Given the description of an element on the screen output the (x, y) to click on. 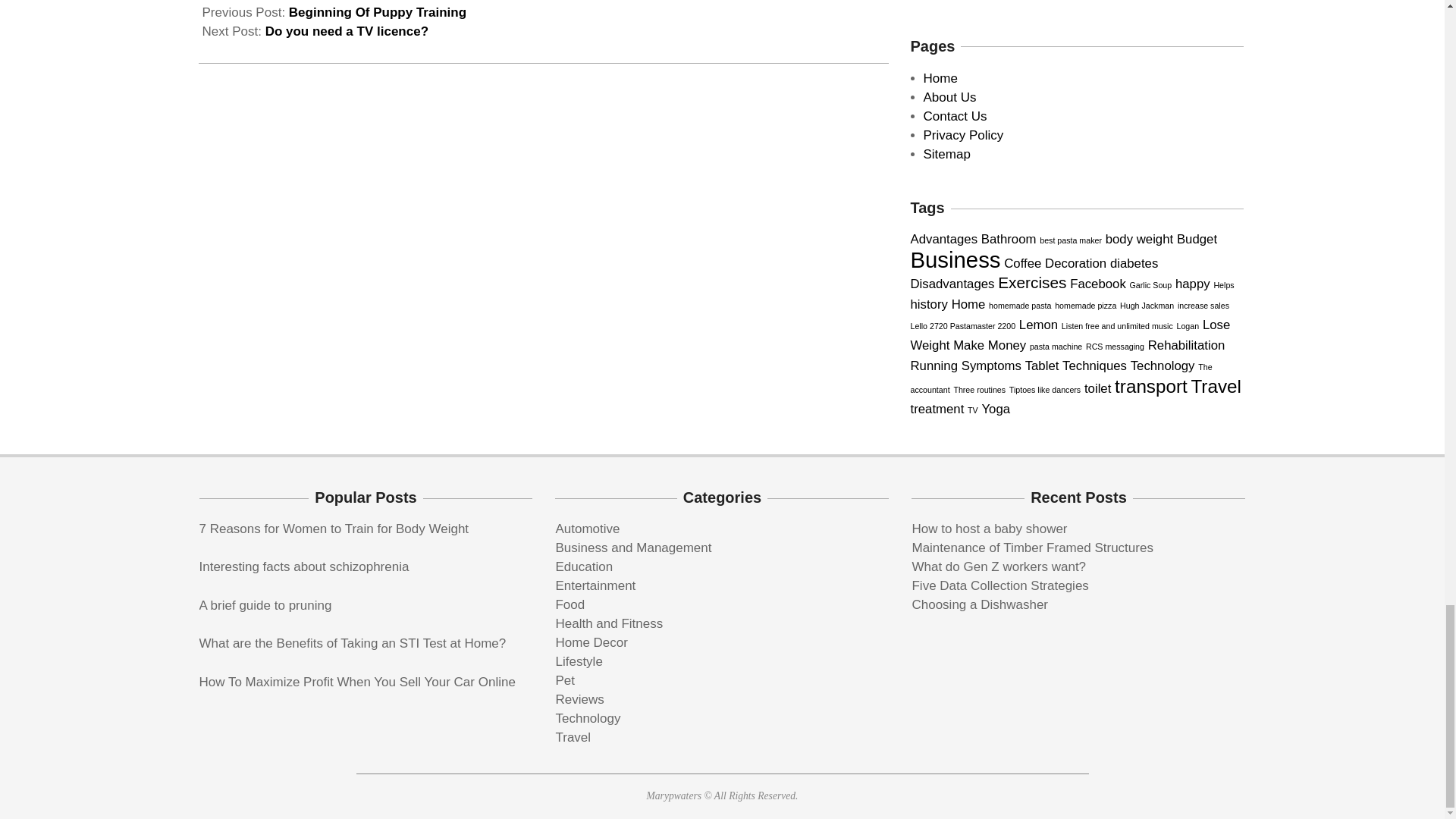
Beginning Of Puppy Training (376, 11)
Do you need a TV licence? (346, 31)
